Given the description of an element on the screen output the (x, y) to click on. 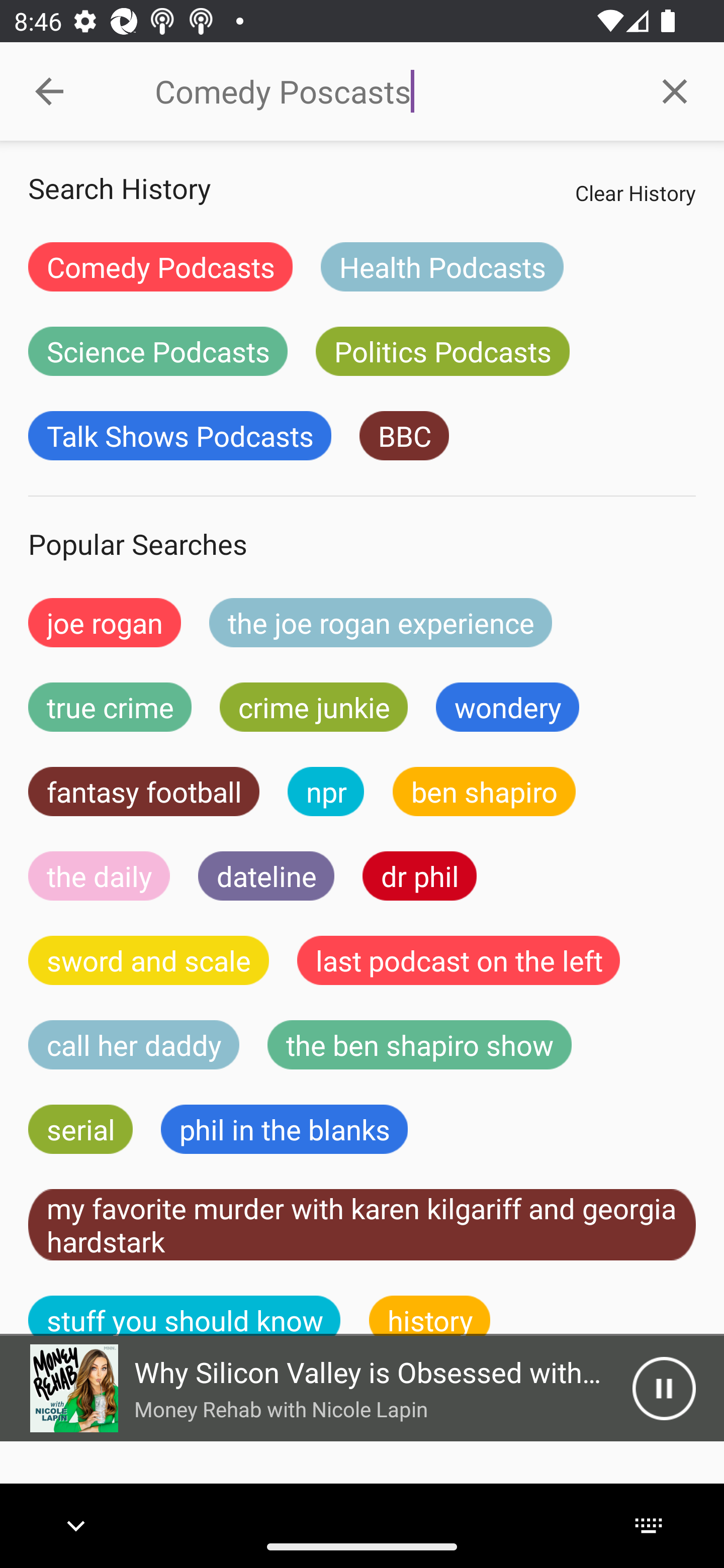
Collapse (49, 91)
Clear query (674, 90)
Comedy Poscasts (389, 91)
Clear History (634, 192)
Comedy Podcasts (160, 266)
Health Podcasts (441, 266)
Science Podcasts (157, 351)
Politics Podcasts (442, 351)
Talk Shows Podcasts (179, 435)
BBC (403, 435)
joe rogan (104, 622)
the joe rogan experience (380, 622)
true crime (109, 707)
crime junkie (313, 707)
wondery (507, 707)
fantasy football (143, 791)
npr (325, 791)
ben shapiro (483, 791)
the daily (99, 875)
dateline (266, 875)
dr phil (419, 875)
sword and scale (148, 960)
last podcast on the left (458, 960)
call her daddy (133, 1044)
the ben shapiro show (419, 1044)
serial (80, 1128)
phil in the blanks (283, 1128)
stuff you should know (184, 1315)
history (429, 1315)
Pause (663, 1388)
